Given the description of an element on the screen output the (x, y) to click on. 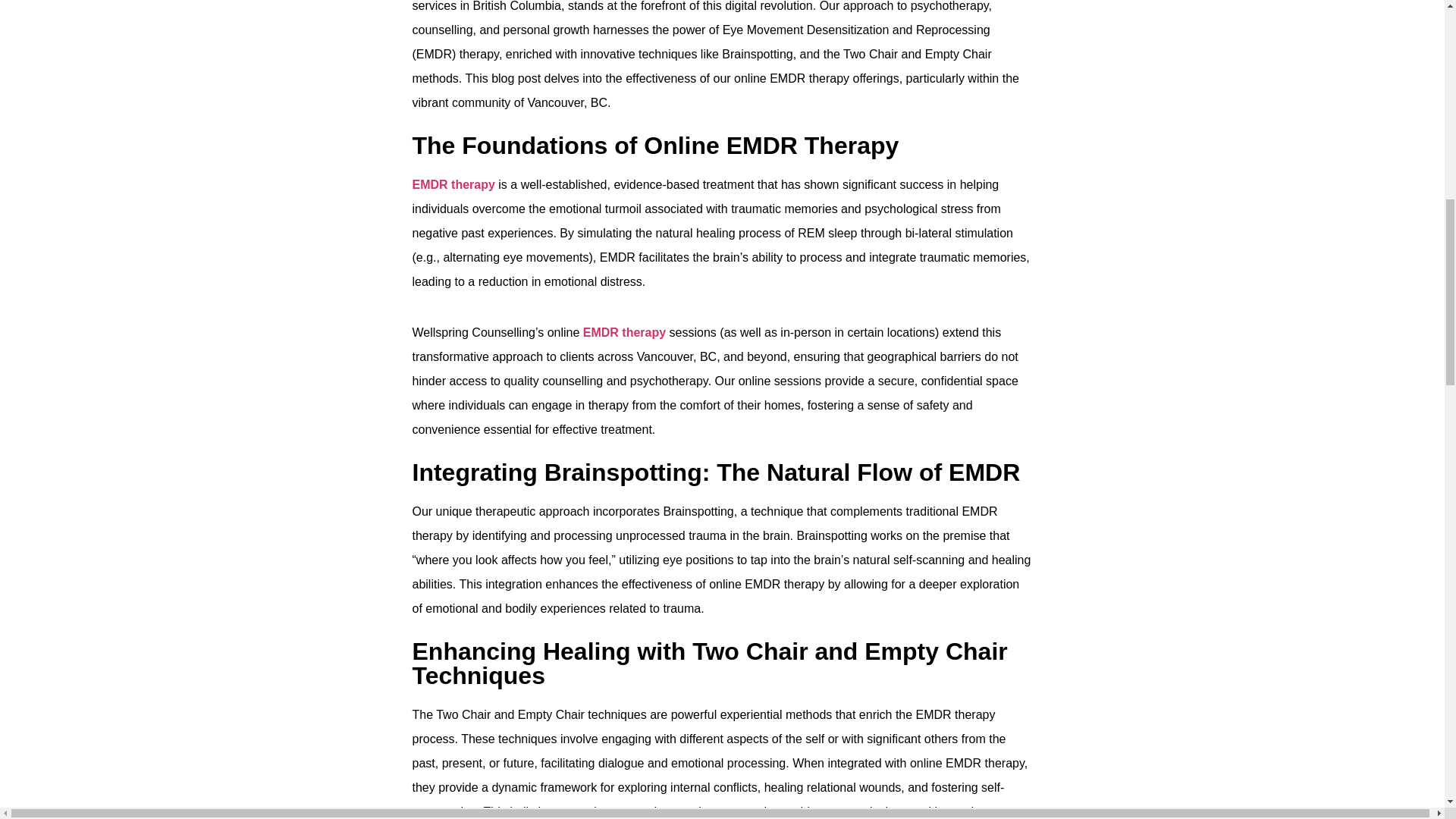
EMDR Therapy Vancouver (453, 184)
